Given the description of an element on the screen output the (x, y) to click on. 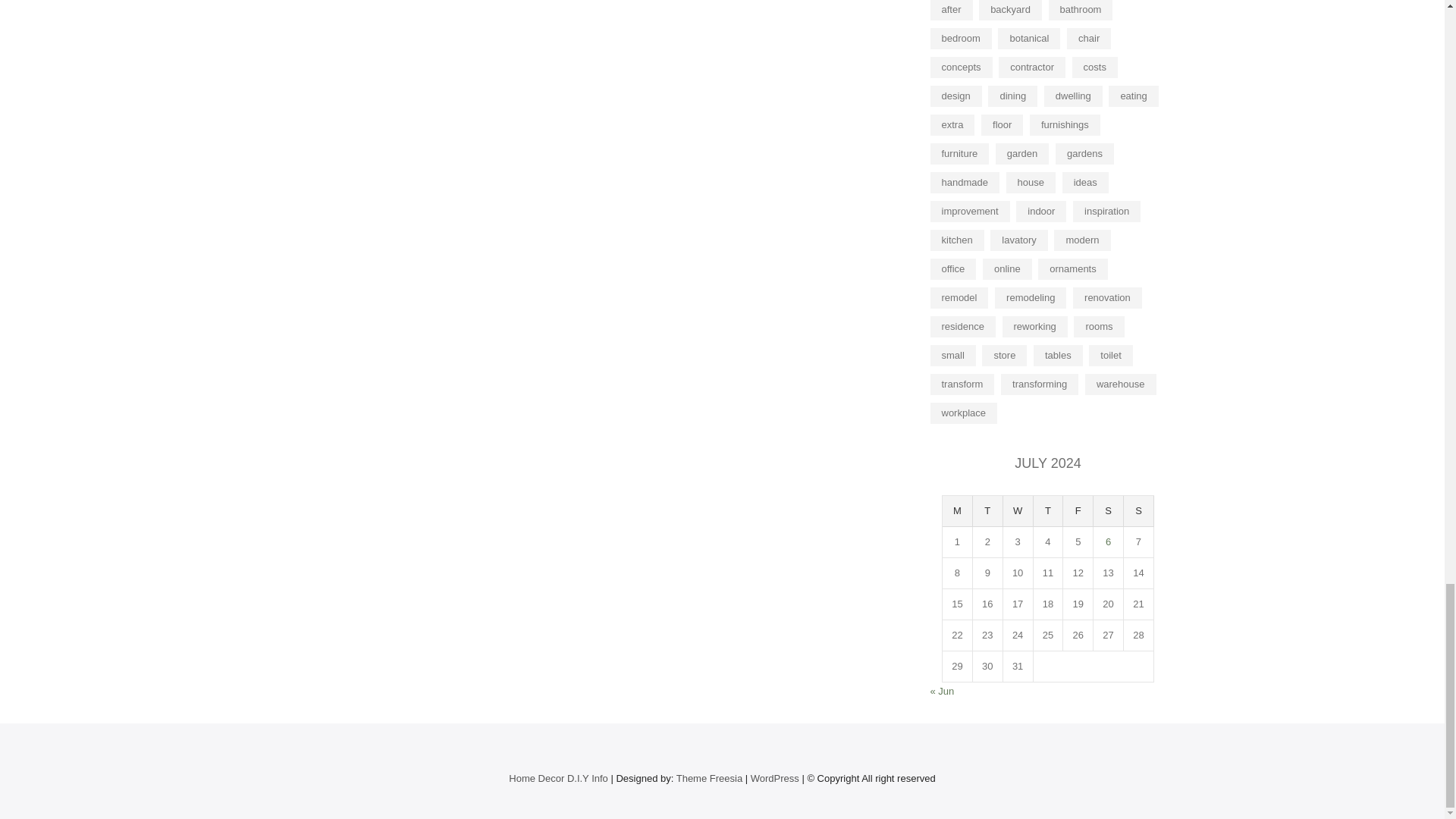
Thursday (1048, 511)
Monday (957, 511)
Tuesday (987, 511)
Wednesday (1018, 511)
Theme Freesia (709, 778)
Sunday (1139, 511)
Home Decor D.I.Y Info (558, 778)
Friday (1077, 511)
Saturday (1108, 511)
WordPress (775, 778)
